Given the description of an element on the screen output the (x, y) to click on. 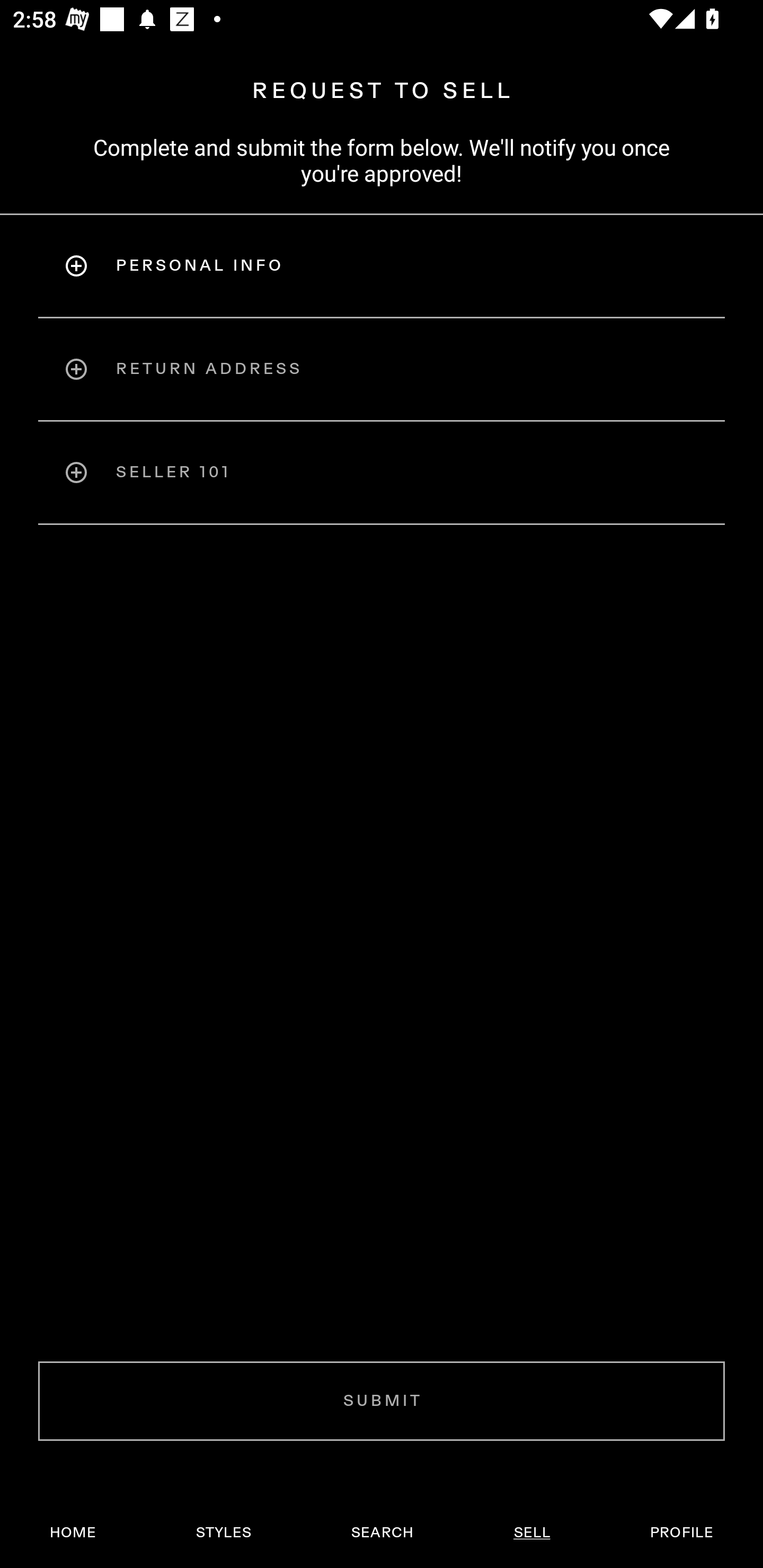
PERSONAL INFO (381, 265)
RETURN ADDRESS (381, 369)
SELLER 101 (381, 472)
SUBMIT (381, 1400)
HOME (72, 1532)
STYLES (222, 1532)
SEARCH (381, 1532)
SELL (531, 1532)
PROFILE (681, 1532)
